Given the description of an element on the screen output the (x, y) to click on. 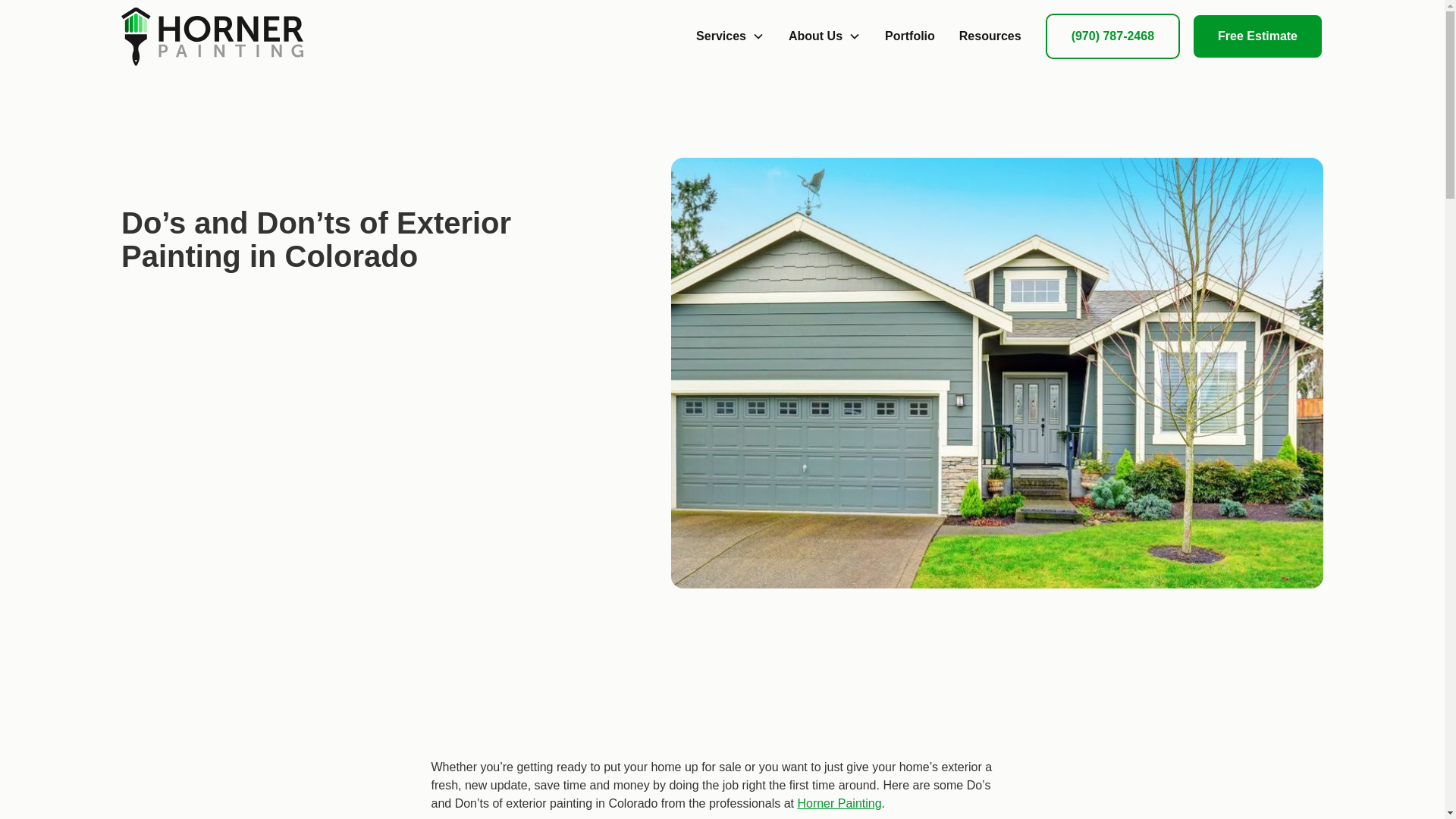
Portfolio (909, 36)
Exterior Painting (164, 167)
Free Estimate (1257, 35)
Horner Painting (838, 802)
Resources (990, 36)
